Given the description of an element on the screen output the (x, y) to click on. 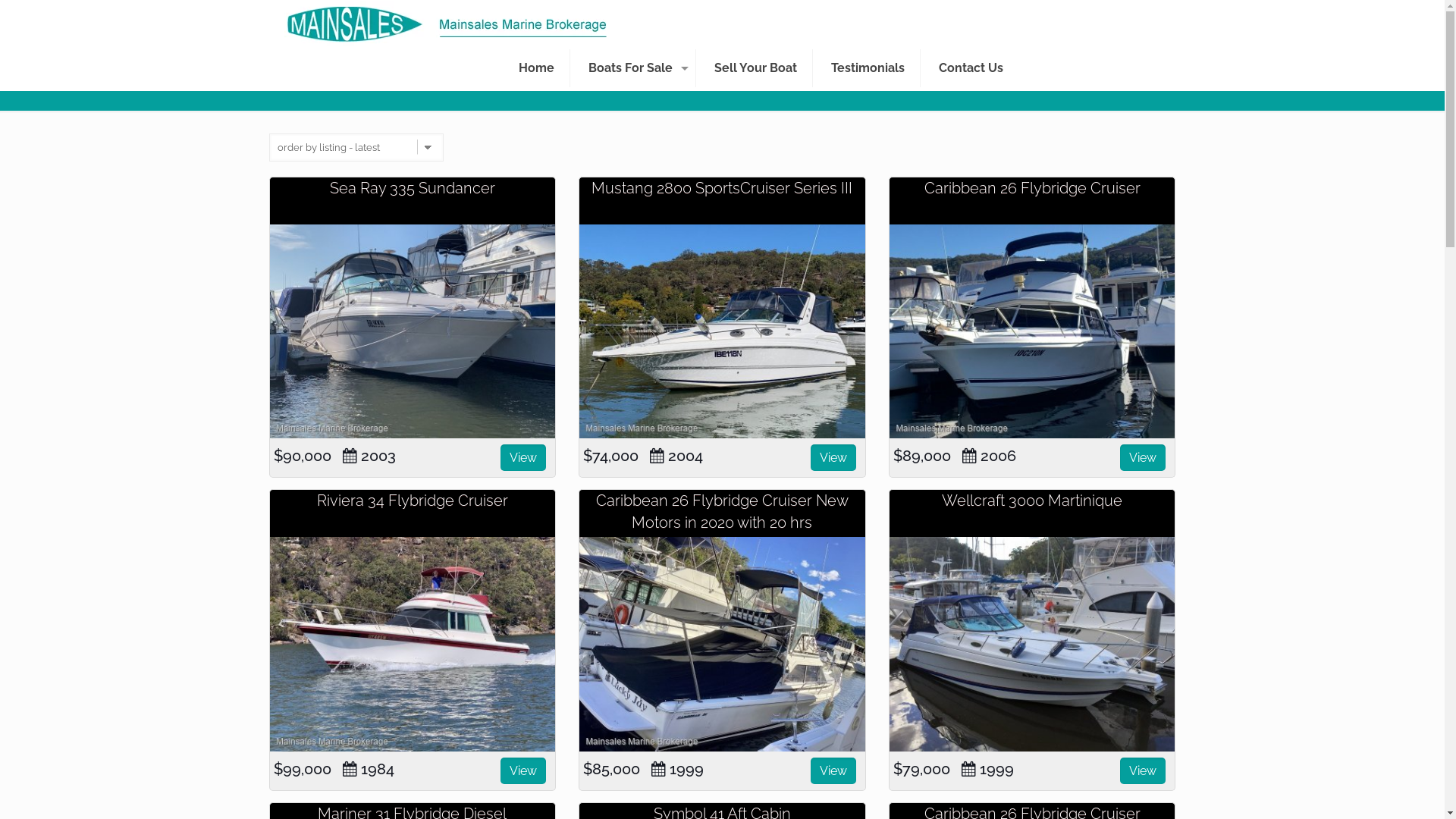
View Element type: text (1142, 770)
Wellcraft 3000 Martinique Element type: text (1031, 500)
Riviera 34 Flybridge Cruiser Element type: text (412, 500)
Riviera 34 Flybridge Cruiser Element type: hover (412, 643)
Caribbean 26 Flybridge Cruiser Element type: text (1032, 187)
Sea Ray 335 Sundancer Element type: hover (412, 331)
Mainsales Marine Brokerage Element type: hover (445, 22)
View Element type: text (833, 770)
View Element type: text (523, 457)
View Element type: text (523, 770)
Wellcraft 3000 Martinique Element type: hover (1032, 643)
Sea Ray 335 Sundancer Element type: text (412, 187)
Mustang 2800 SportsCruiser Series III Element type: hover (722, 331)
Boats For Sale Element type: text (634, 68)
View Element type: text (1142, 457)
View Element type: text (833, 457)
Caribbean 26 Flybridge Cruiser Element type: hover (1032, 331)
Contact Us Element type: text (970, 68)
Home Element type: text (536, 68)
Mustang 2800 SportsCruiser Series III Element type: text (721, 187)
Sell Your Boat Element type: text (755, 68)
Testimonials Element type: text (867, 68)
